Given the description of an element on the screen output the (x, y) to click on. 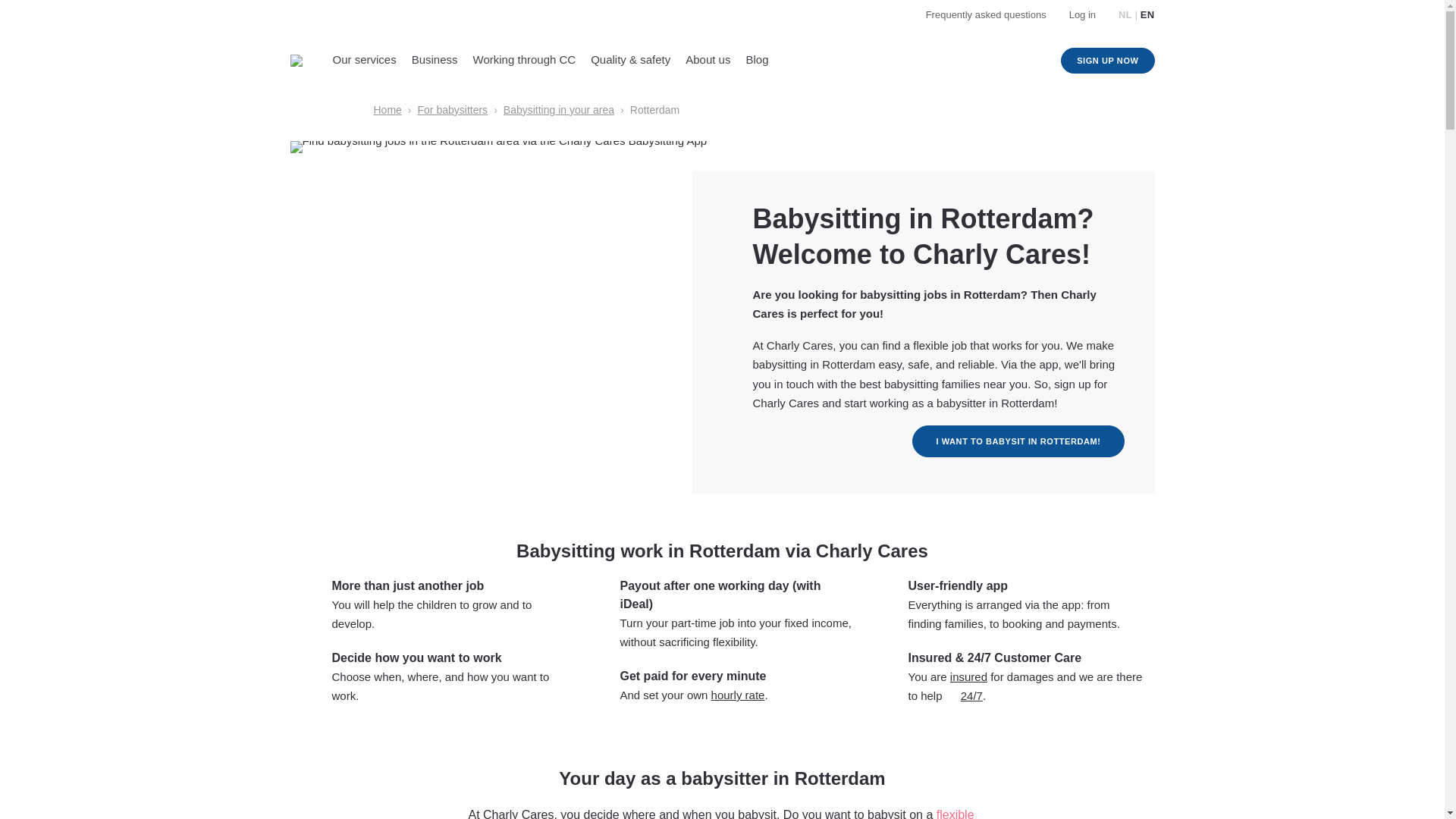
Frequently asked questions (986, 14)
NL (1125, 14)
Log in (1082, 14)
Frequently asked questions (986, 14)
EN (1147, 14)
Log in (1082, 14)
